Given the description of an element on the screen output the (x, y) to click on. 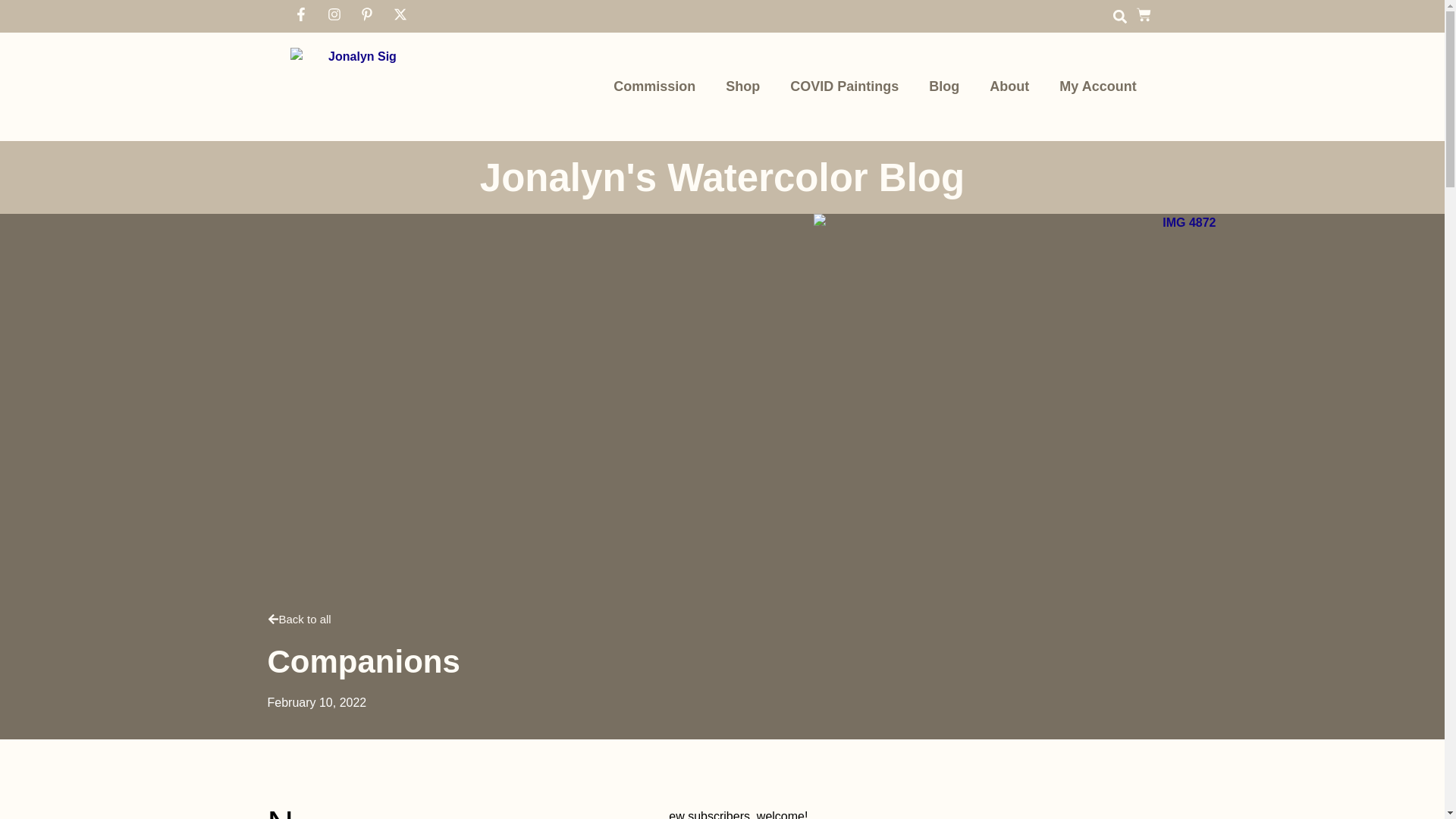
Shop (742, 86)
Back to all (298, 619)
COVID Paintings (844, 86)
Blog (944, 86)
Commission (654, 86)
About (1008, 86)
My Account (1097, 86)
